Given the description of an element on the screen output the (x, y) to click on. 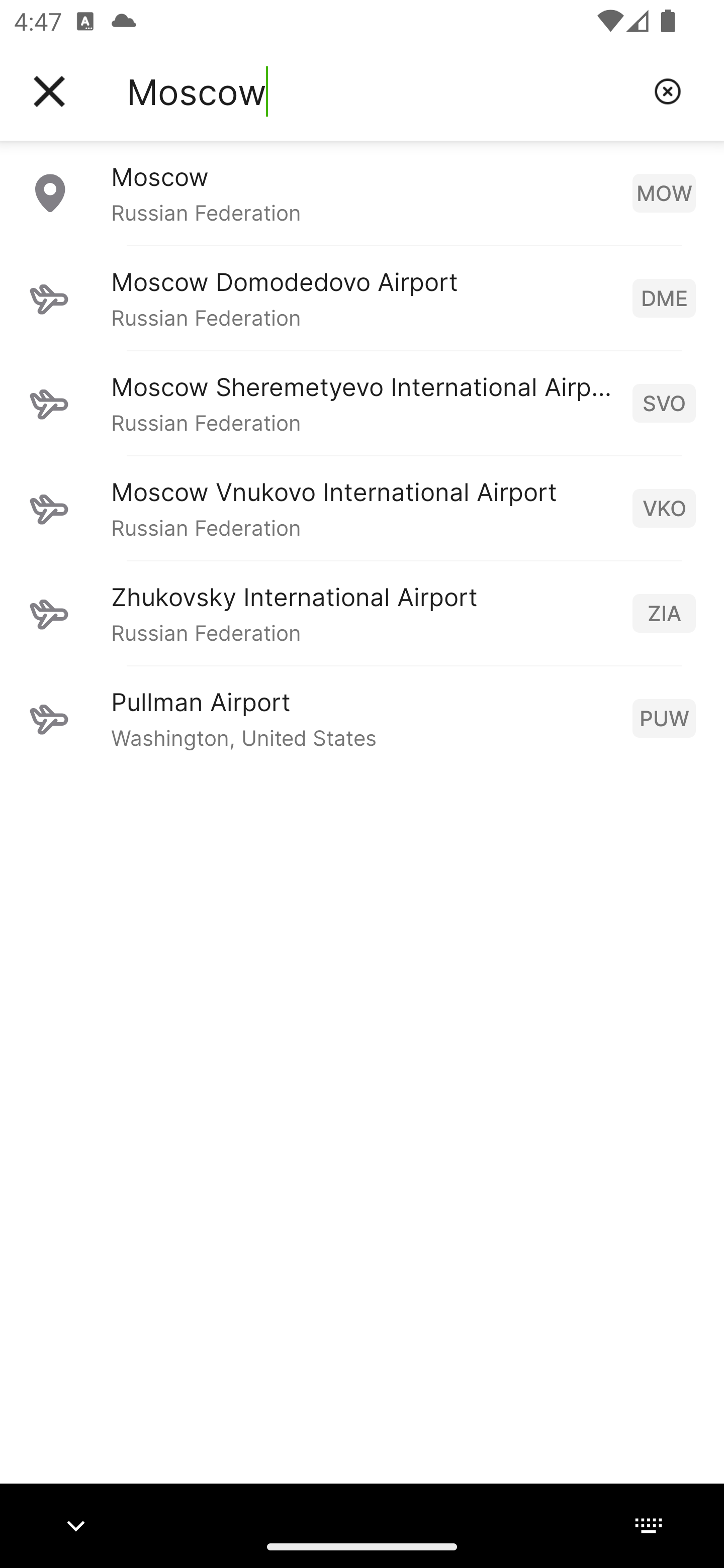
Moscow (382, 91)
Moscow Russian Federation MOW (362, 192)
Moscow Domodedovo Airport Russian Federation DME (362, 297)
Pullman Airport Washington, United States PUW (362, 717)
